Given the description of an element on the screen output the (x, y) to click on. 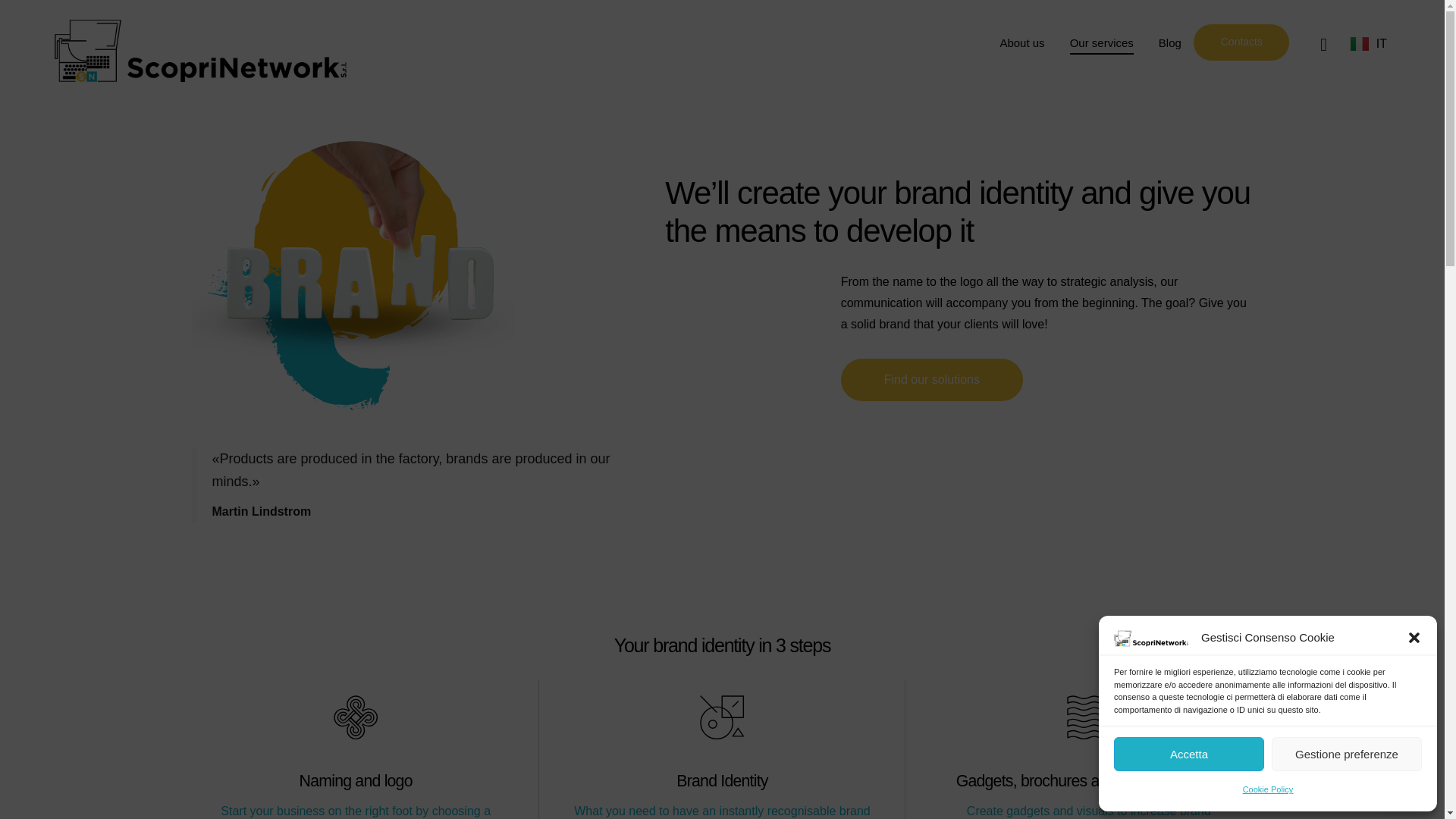
Contacts (1241, 42)
IT (1369, 43)
About us (1022, 43)
Blog (1169, 43)
Gestione preferenze (1346, 754)
Accetta (1188, 754)
Our services (1101, 43)
Cookie Policy (1268, 789)
